Given the description of an element on the screen output the (x, y) to click on. 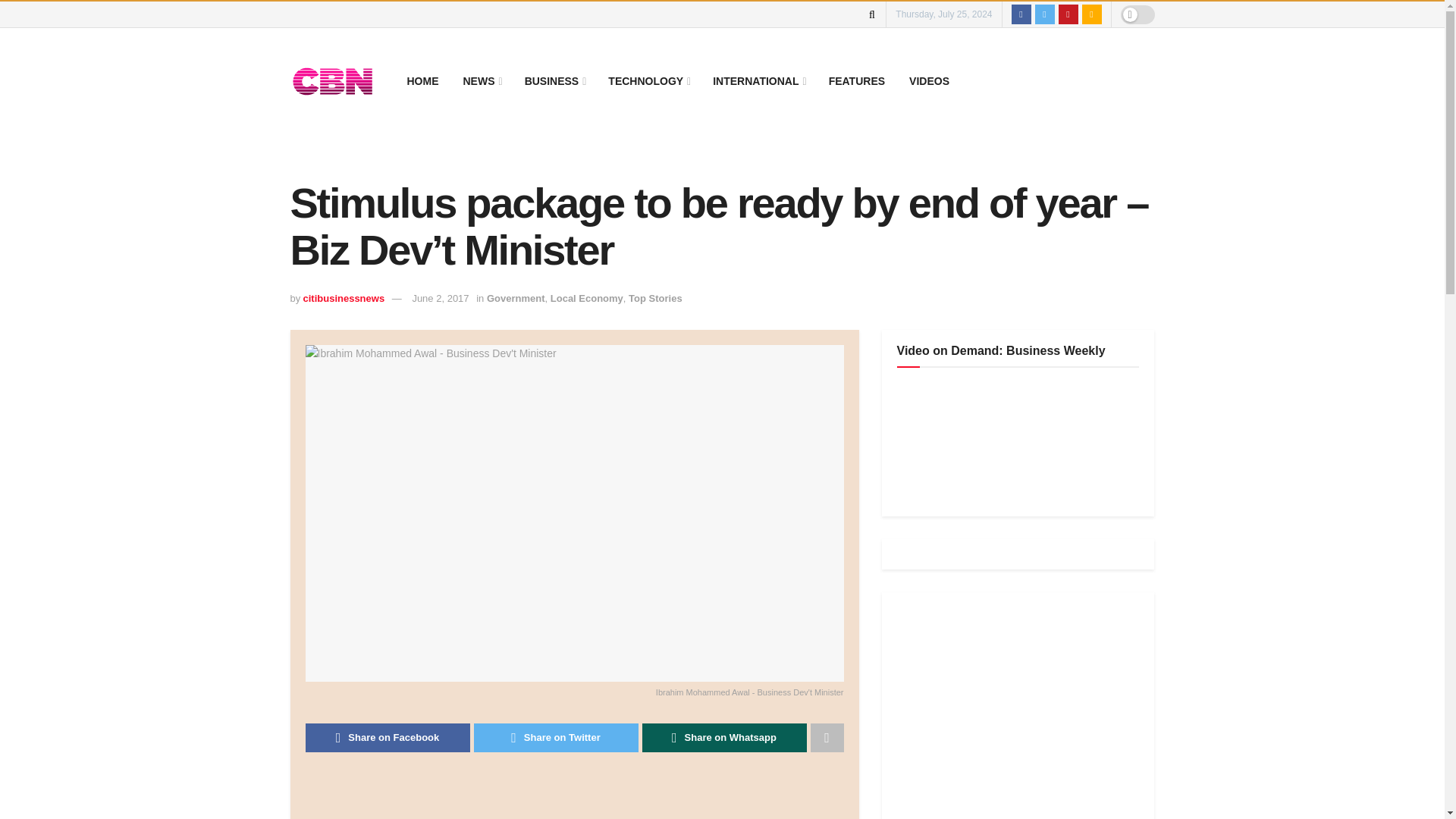
Advertisement (1010, 713)
Advertisement (580, 798)
Business Weekly (1010, 439)
HOME (421, 80)
NEWS (480, 80)
